Given the description of an element on the screen output the (x, y) to click on. 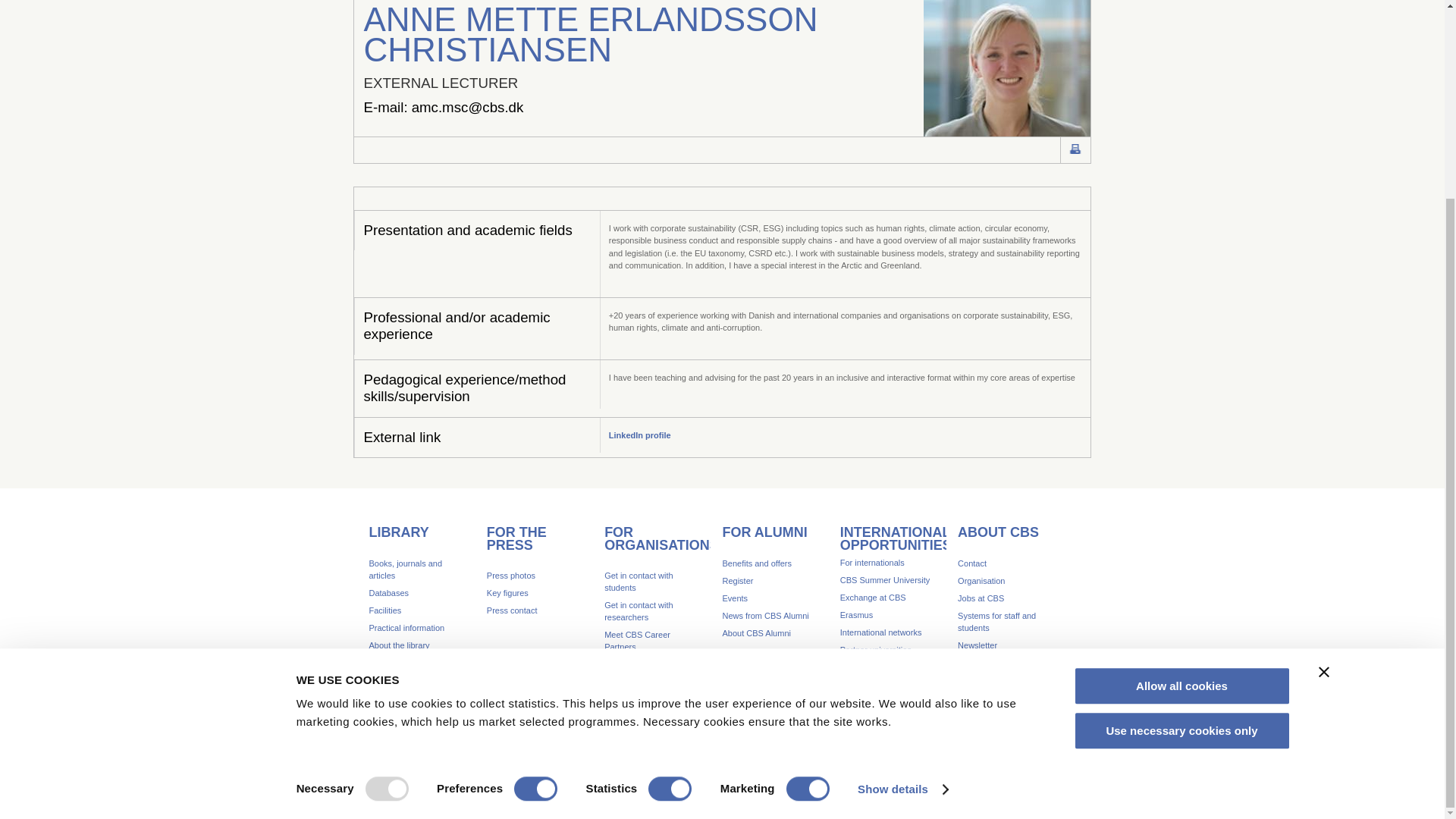
Show details (902, 536)
Use necessary cookies only (1182, 477)
